Given the description of an element on the screen output the (x, y) to click on. 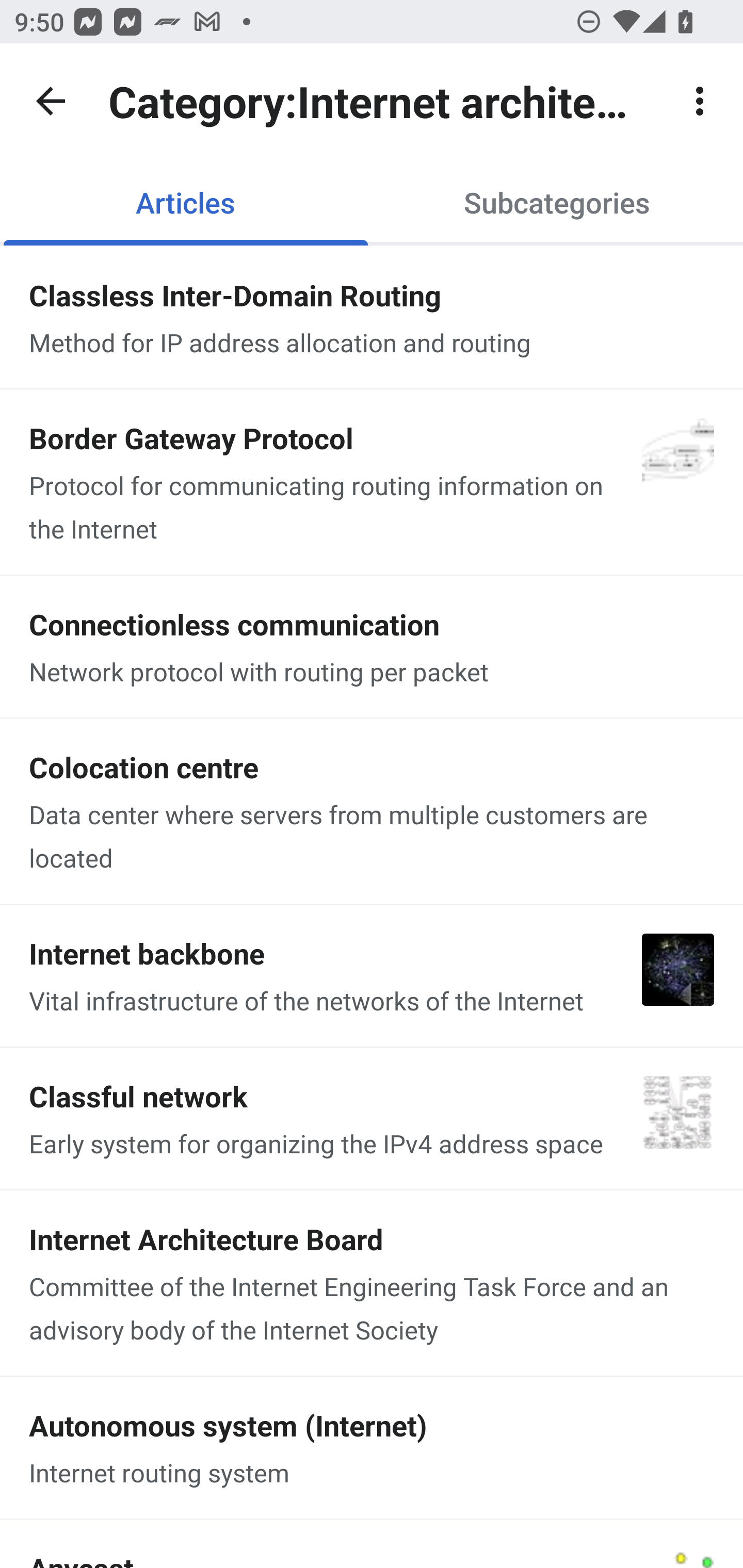
Navigate up (50, 101)
More options (699, 101)
Subcategories (557, 202)
